Given the description of an element on the screen output the (x, y) to click on. 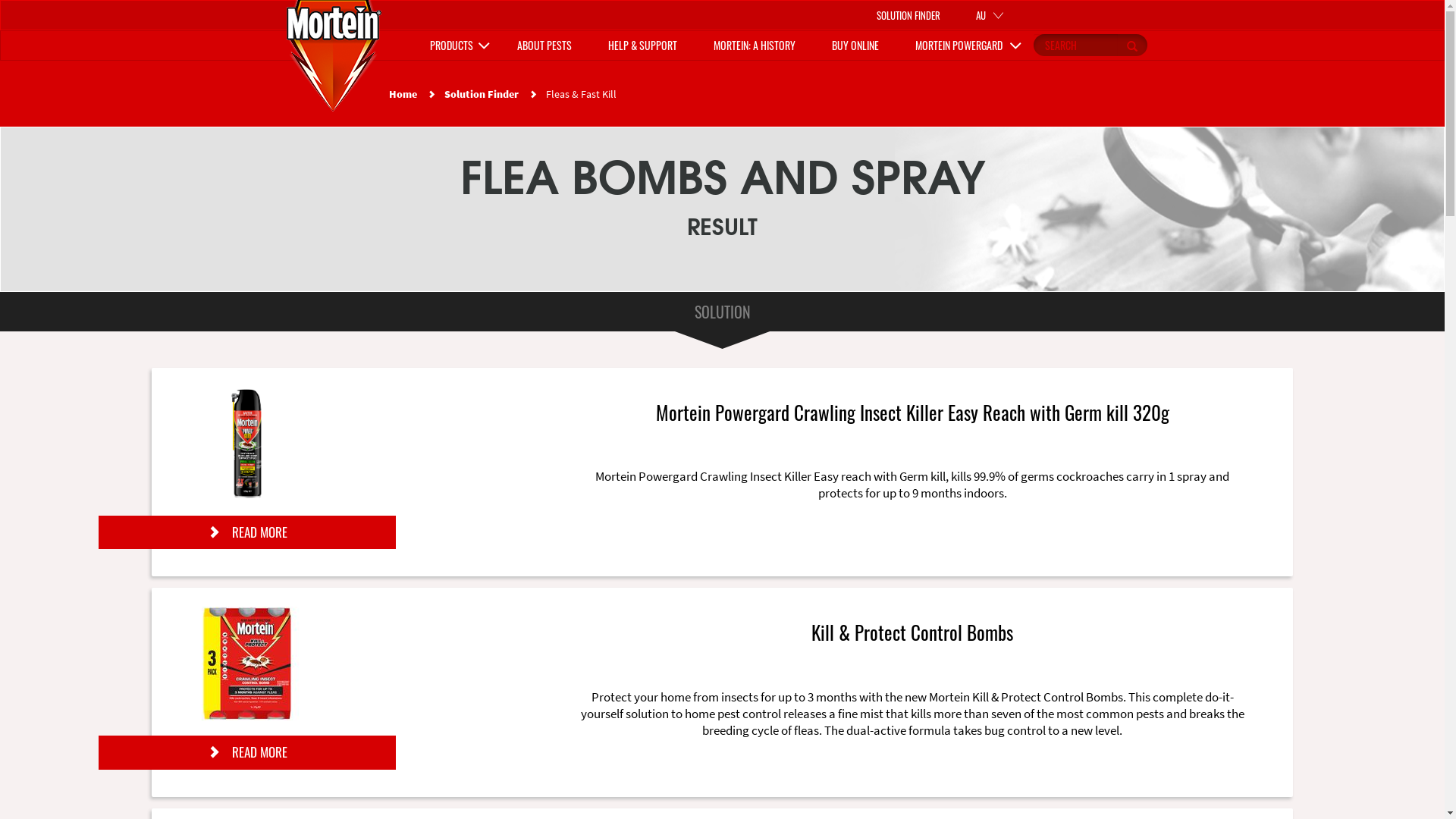
AU Element type: text (993, 15)
text Element type: hover (1074, 45)
MORTEIN: A HISTORY Element type: text (753, 45)
SOLUTION FINDER Element type: text (907, 14)
Home Element type: hover (333, 51)
Solution Finder Element type: text (481, 93)
Search Element type: text (1131, 45)
BUY ONLINE Element type: text (854, 45)
Home Element type: text (402, 93)
MORTEIN POWERGARD Element type: text (962, 45)
PRODUCTS Element type: text (454, 45)
READ MORE Element type: text (246, 751)
HELP & SUPPORT Element type: text (642, 45)
READ MORE Element type: text (246, 532)
ABOUT PESTS Element type: text (543, 45)
